Given the description of an element on the screen output the (x, y) to click on. 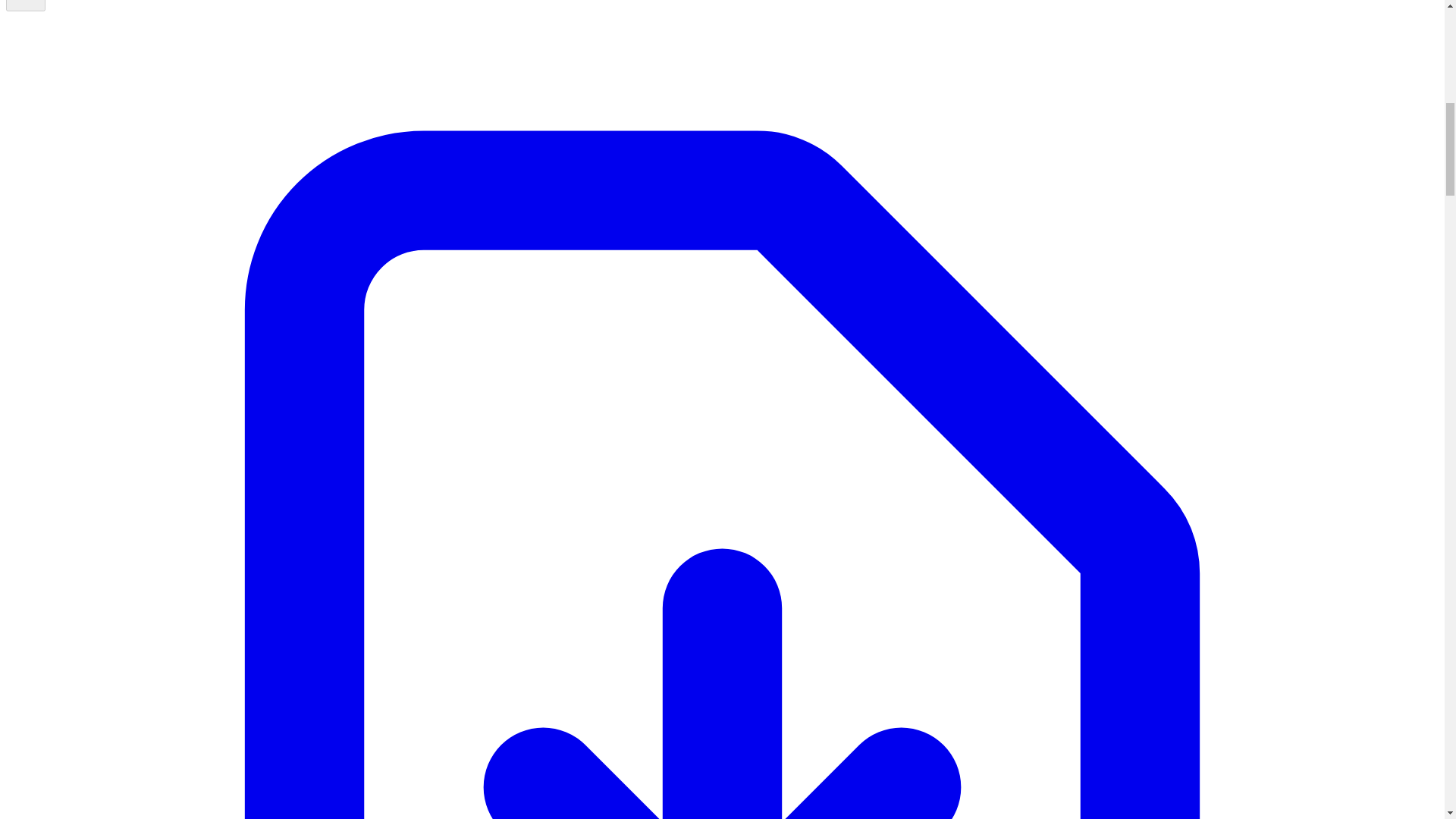
Share (25, 5)
